Given the description of an element on the screen output the (x, y) to click on. 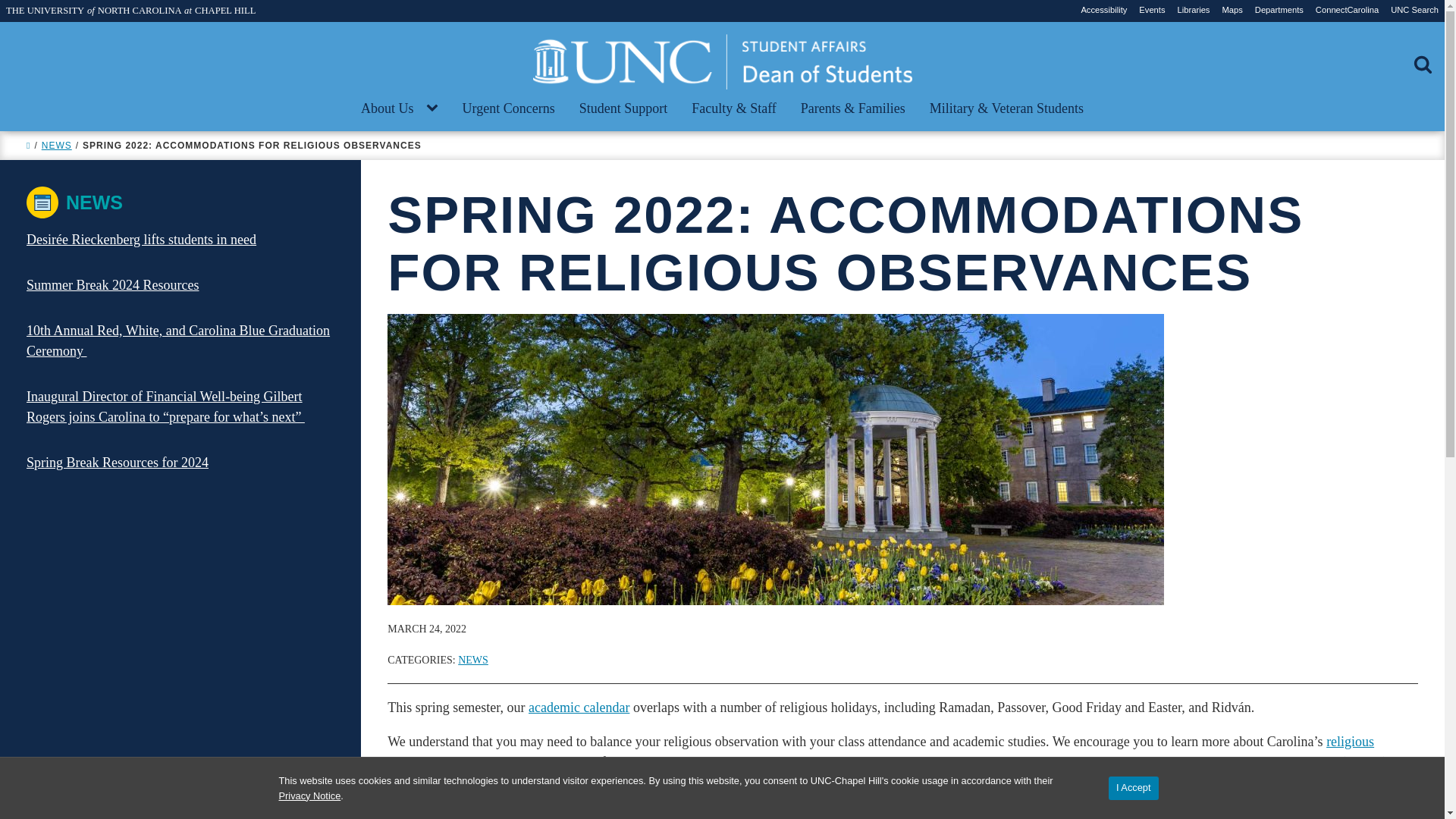
Libraries (1193, 10)
I Accept (1133, 788)
Go to the news category archives. (56, 145)
academic calendar (578, 707)
Events (1151, 10)
Search (34, 15)
Spring Break Resources for 2024 (117, 462)
NEWS (56, 145)
Summer Break 2024 Resources (112, 285)
religious accommodations (880, 751)
Accessibility (1103, 10)
ConnectCarolina (1346, 10)
Student Support (623, 108)
Religious Accommodation Request Form (855, 761)
